Given the description of an element on the screen output the (x, y) to click on. 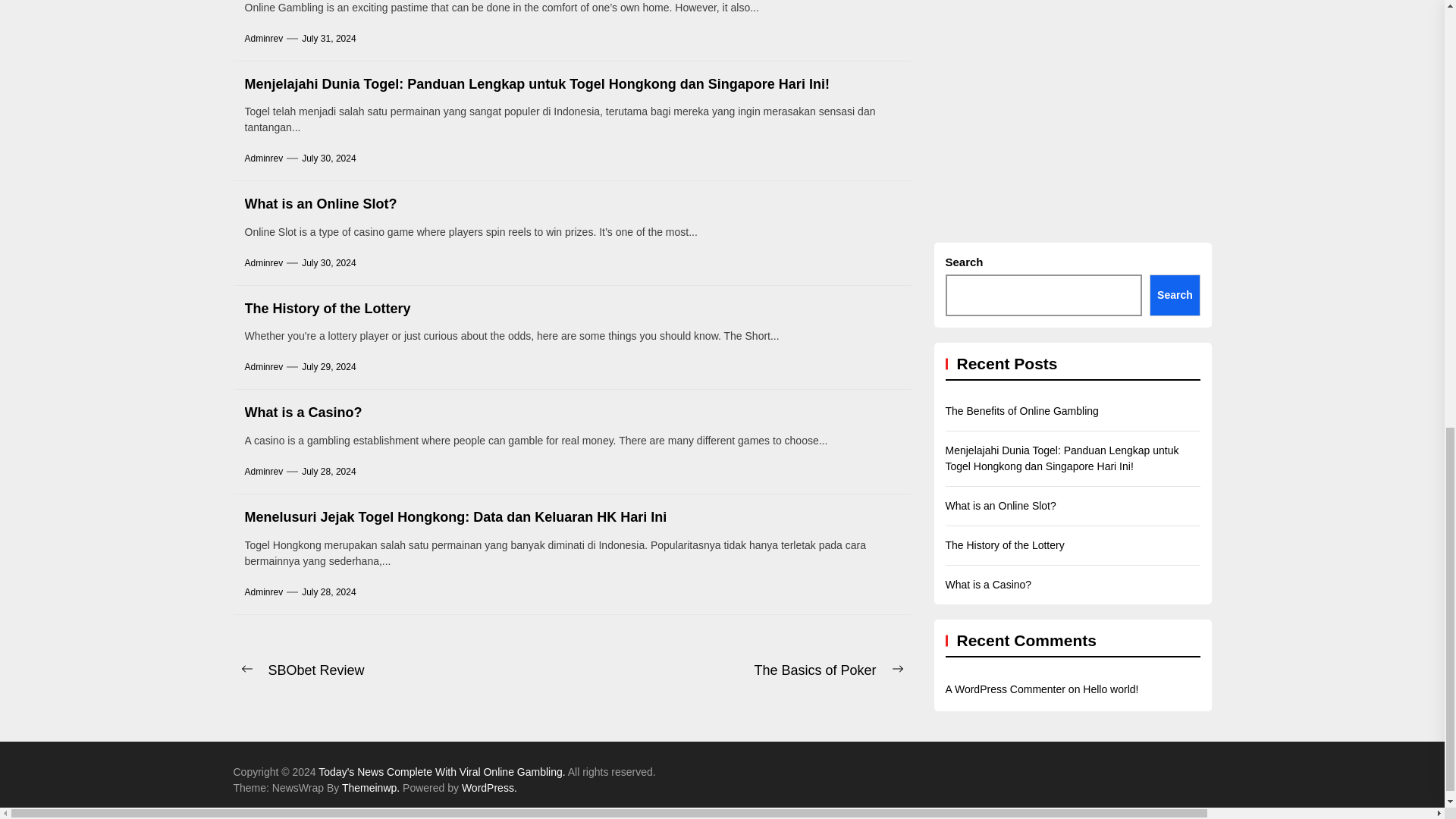
July 2022 (1439, 46)
October 2022 (1439, 7)
